Given the description of an element on the screen output the (x, y) to click on. 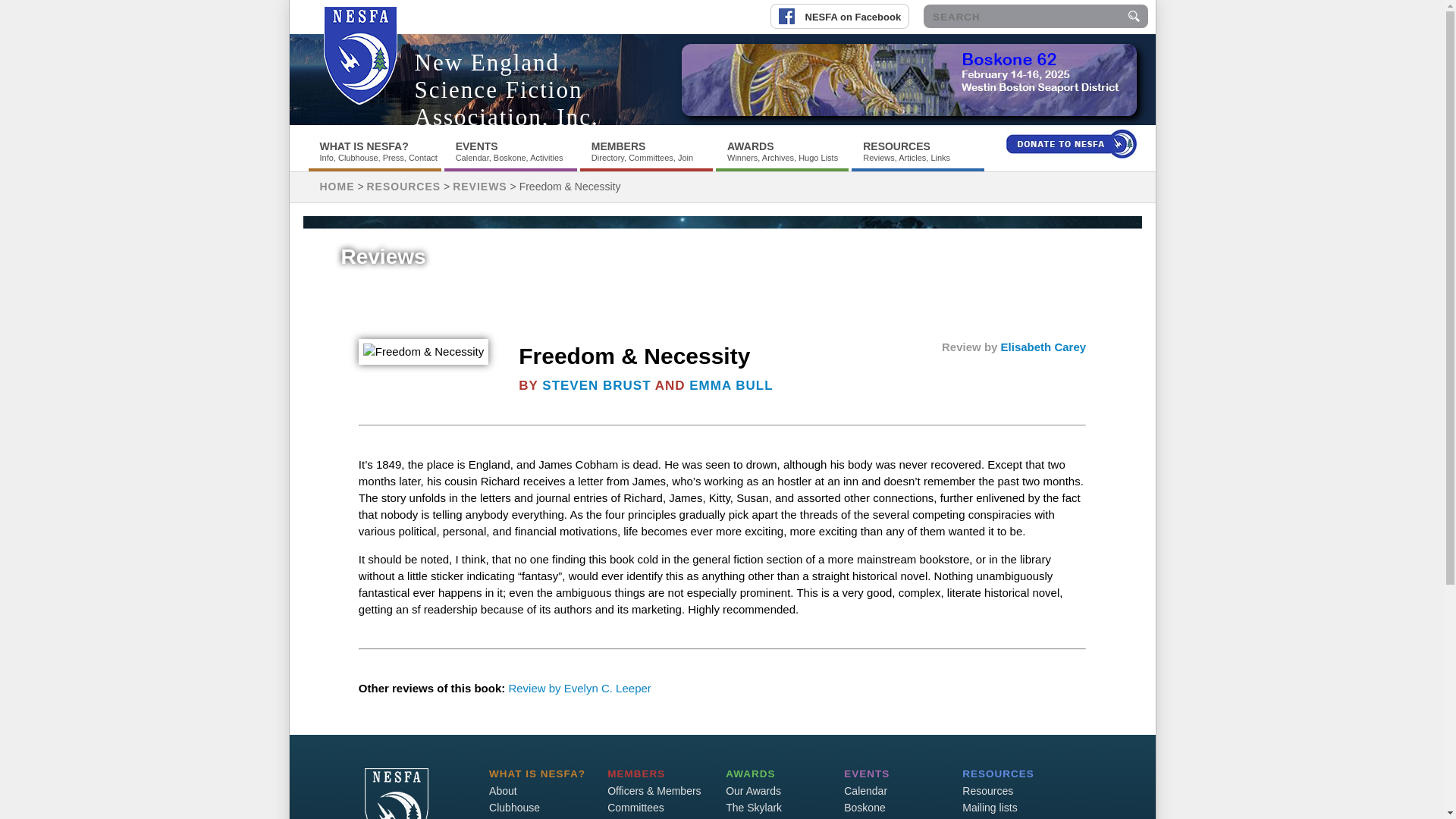
EVENTS (476, 146)
RESOURCES (896, 146)
MEMBERS (618, 146)
AWARDS (749, 146)
WHAT IS NESFA? (364, 146)
NESFA on Facebook (845, 9)
New England Science Fiction Association, Inc. (505, 89)
submit (1133, 15)
